Given the description of an element on the screen output the (x, y) to click on. 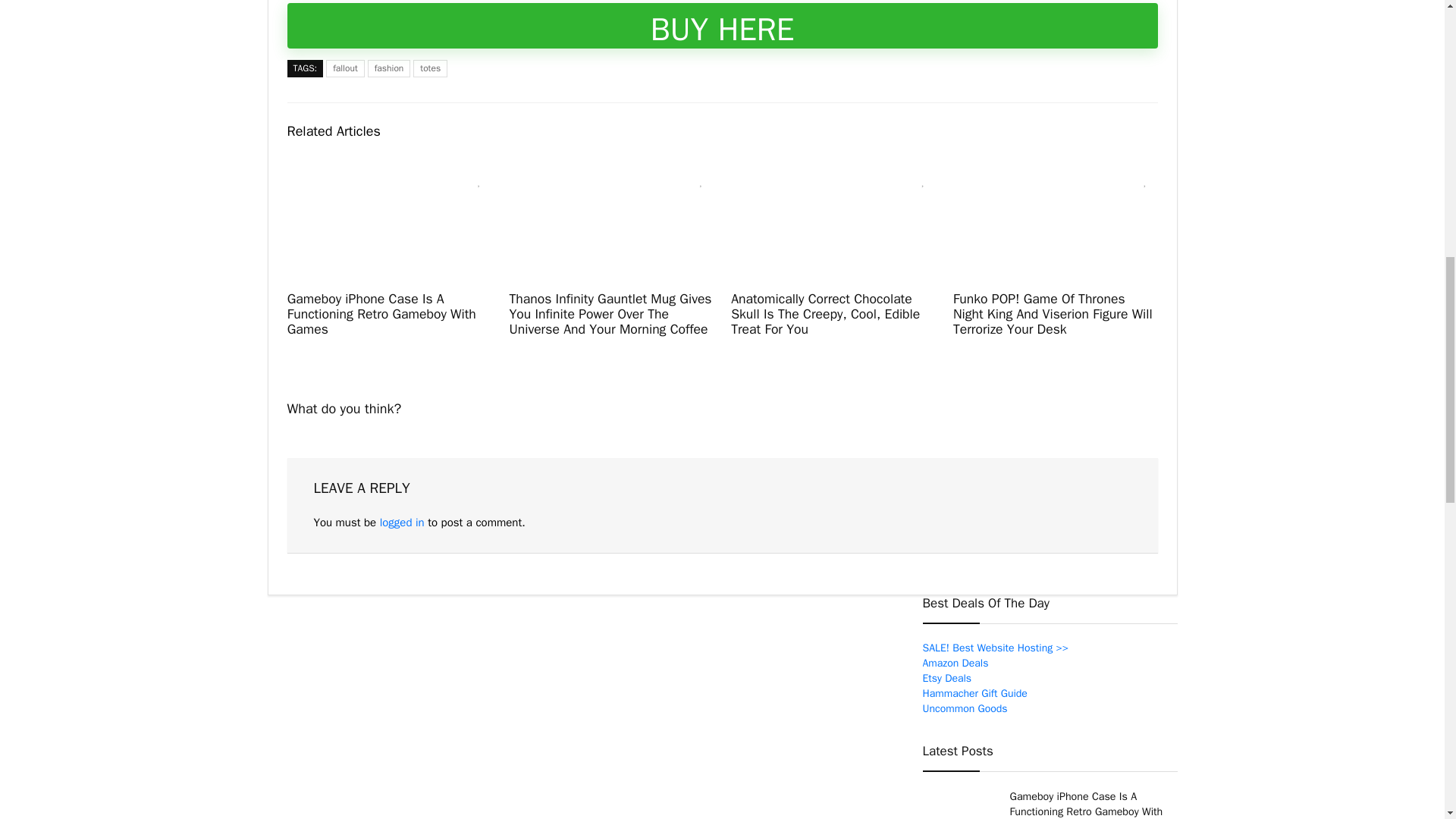
BUY HERE (721, 25)
totes (429, 67)
fallout (345, 67)
logged in (402, 522)
fashion (389, 67)
